Given the description of an element on the screen output the (x, y) to click on. 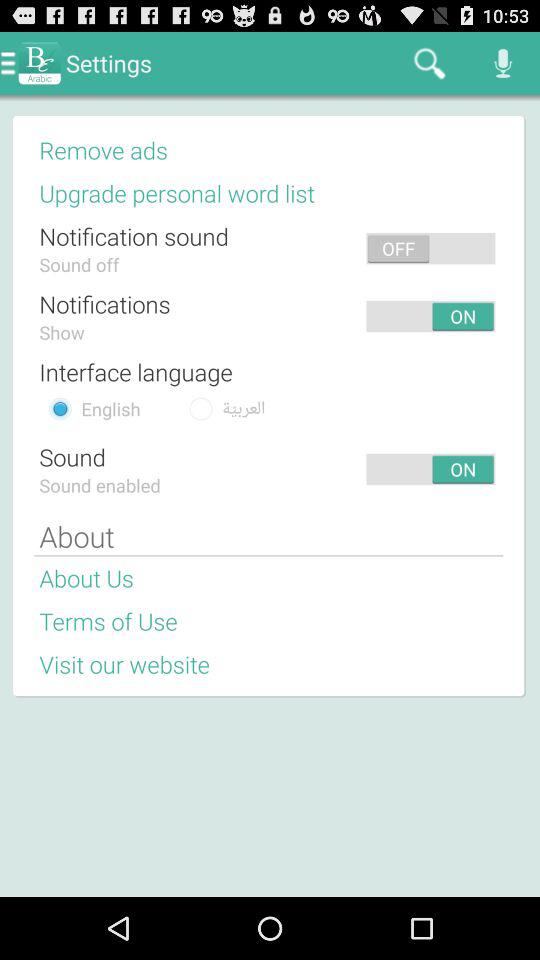
choose remove ads icon (103, 149)
